Given the description of an element on the screen output the (x, y) to click on. 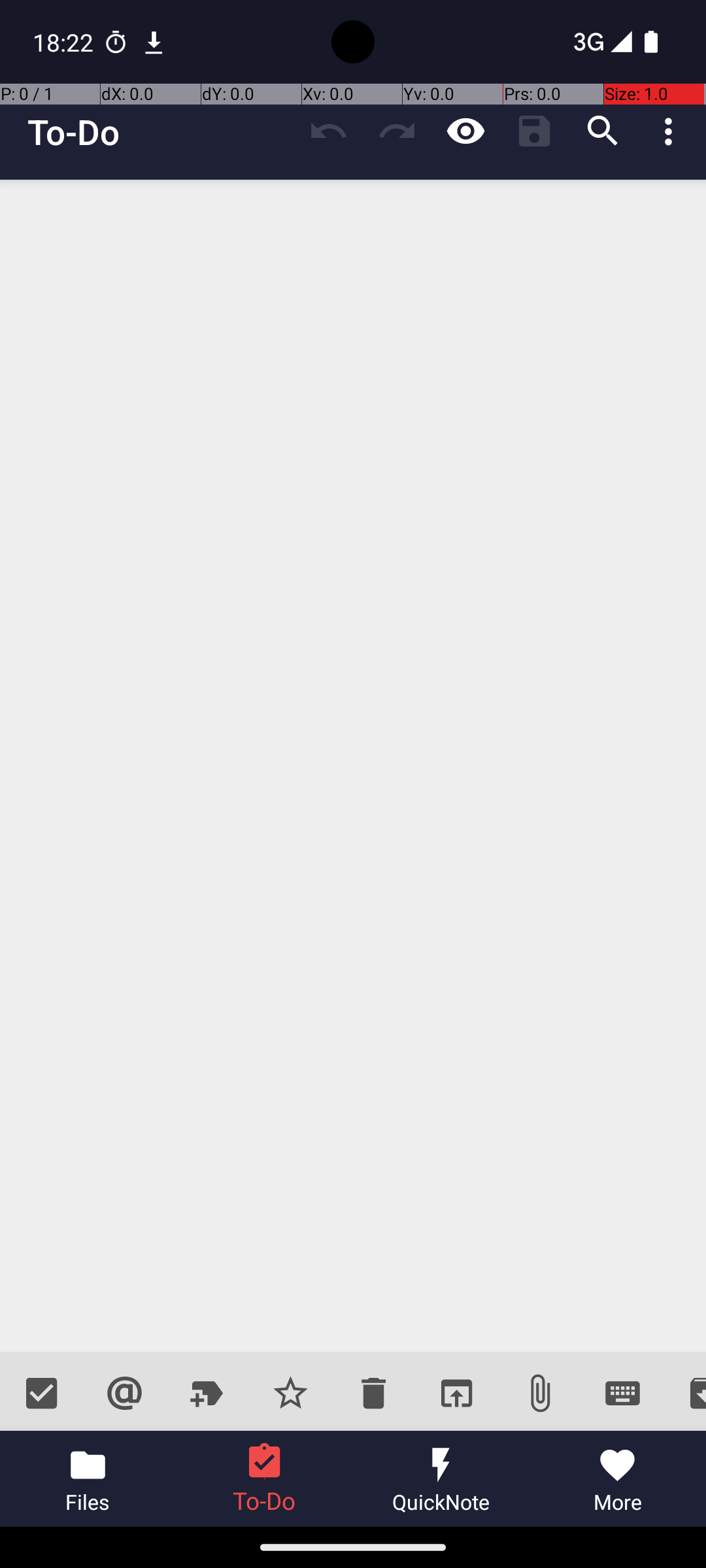
18:22 Element type: android.widget.TextView (64, 41)
